Given the description of an element on the screen output the (x, y) to click on. 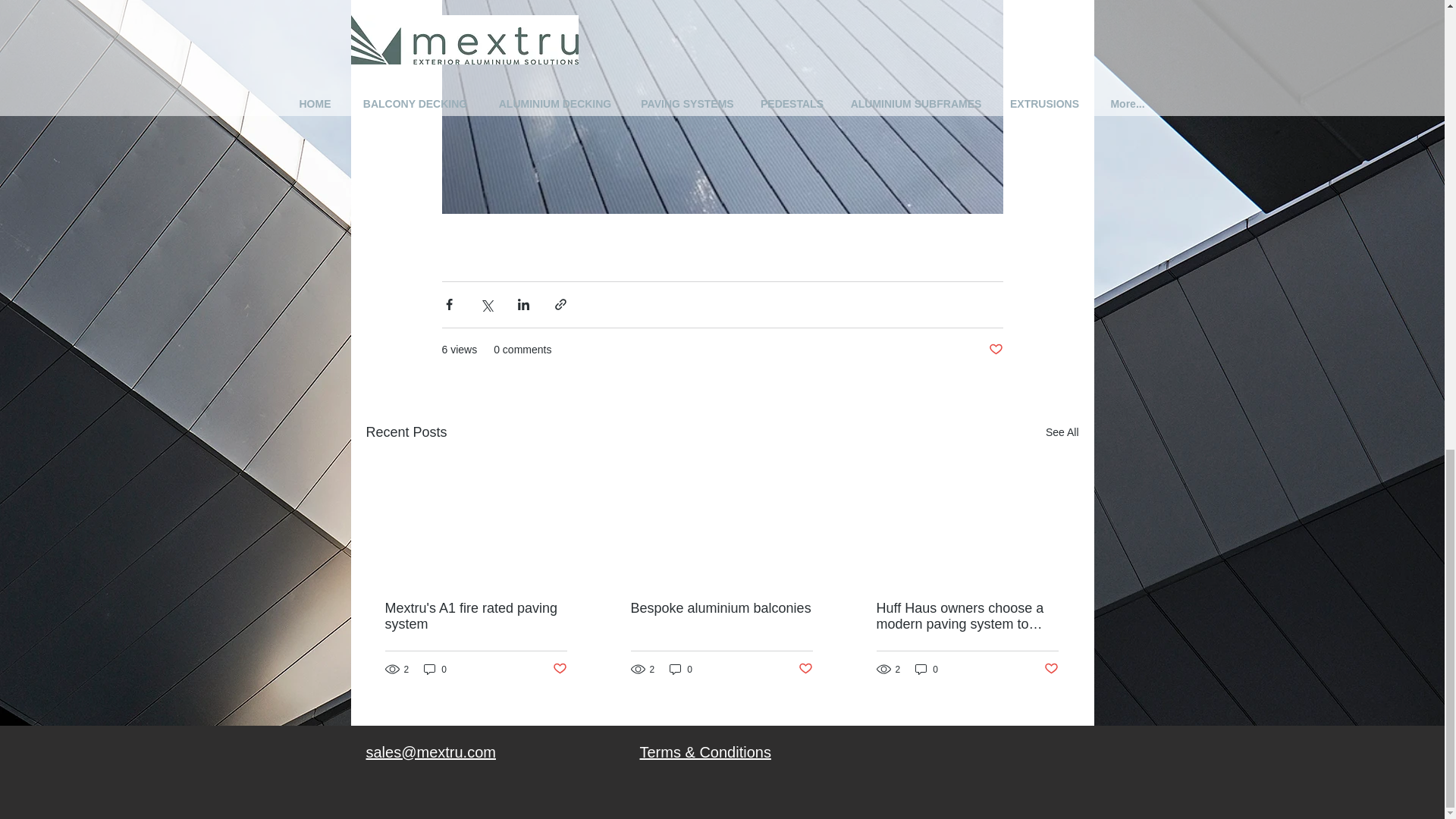
0 (926, 668)
Mextru's A1 fire rated paving system (476, 616)
0 (681, 668)
Bespoke aluminium balconies (721, 608)
Post not marked as liked (558, 668)
Post not marked as liked (804, 668)
Post not marked as liked (995, 349)
0 (435, 668)
Post not marked as liked (1050, 668)
See All (1061, 432)
